Given the description of an element on the screen output the (x, y) to click on. 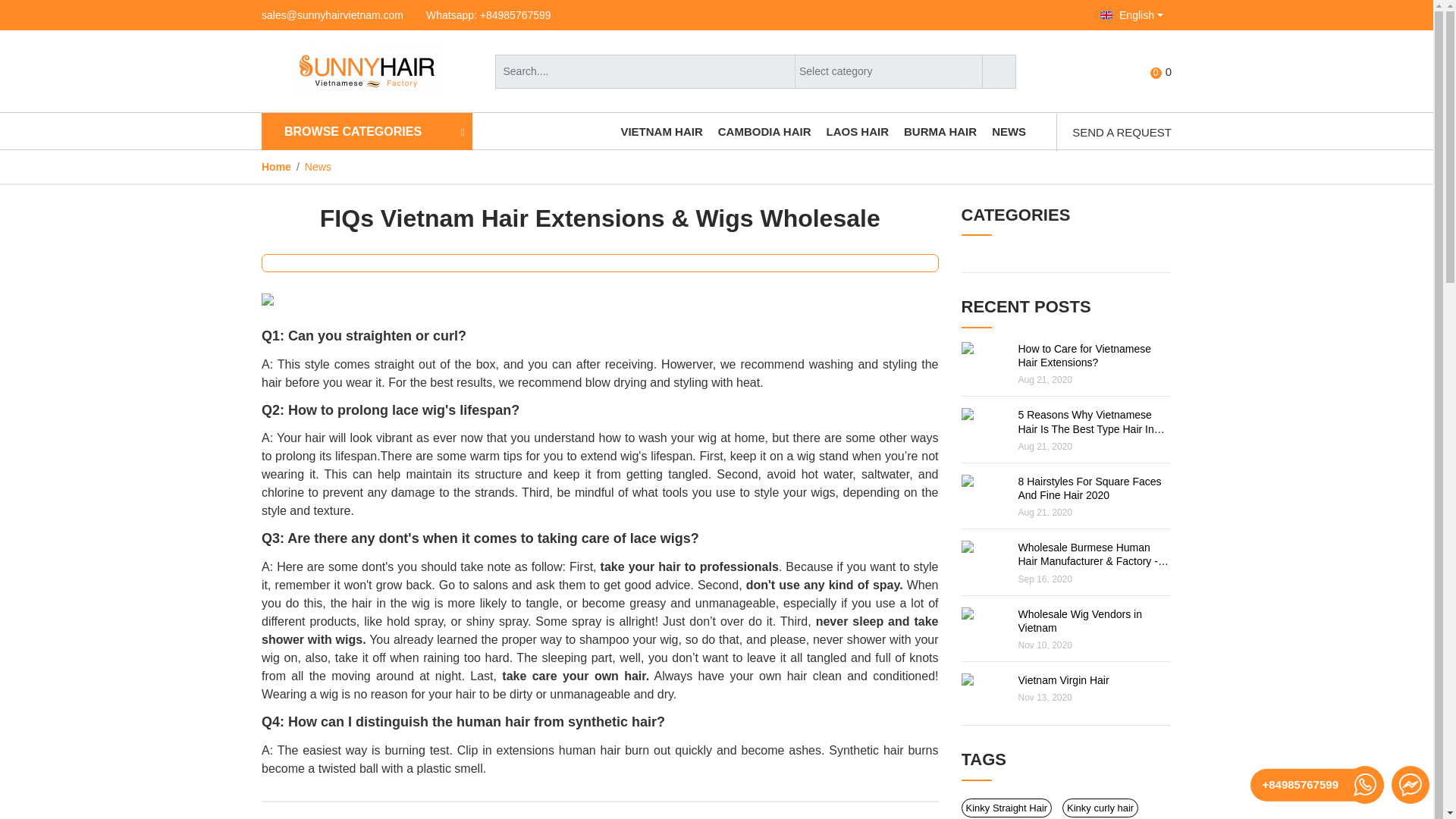
phone (488, 15)
English (1132, 15)
email (1164, 70)
Vietnam Hair Suppliers, Sunny Vietnam Hair Factory (332, 15)
